Given the description of an element on the screen output the (x, y) to click on. 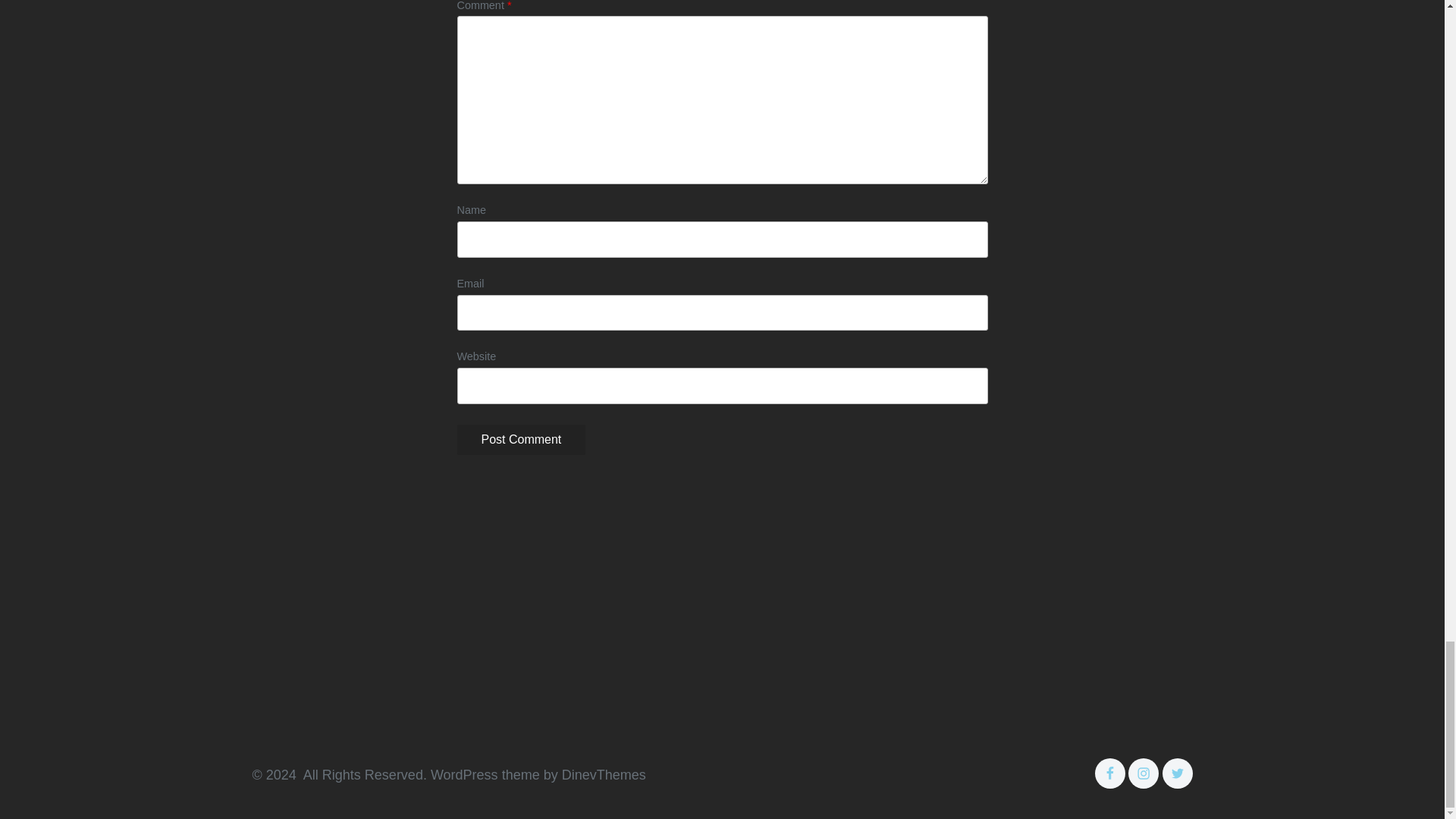
Facebook (1109, 773)
Instagram (1143, 773)
DinevThemes (601, 774)
Twitter (1176, 773)
WordPress (463, 774)
Post Comment (521, 440)
Post Comment (521, 440)
